Given the description of an element on the screen output the (x, y) to click on. 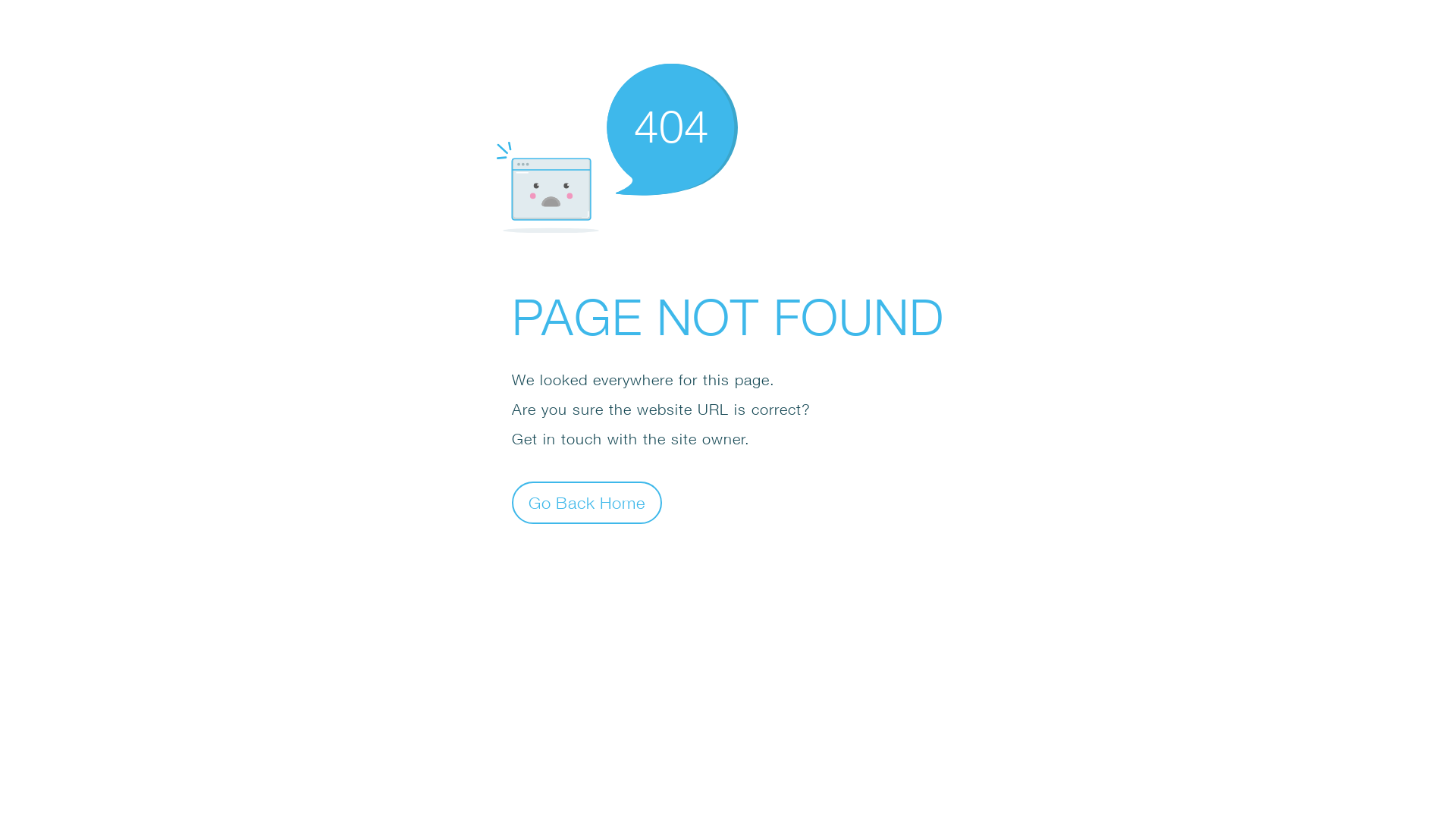
Go Back Home Element type: text (586, 502)
